Given the description of an element on the screen output the (x, y) to click on. 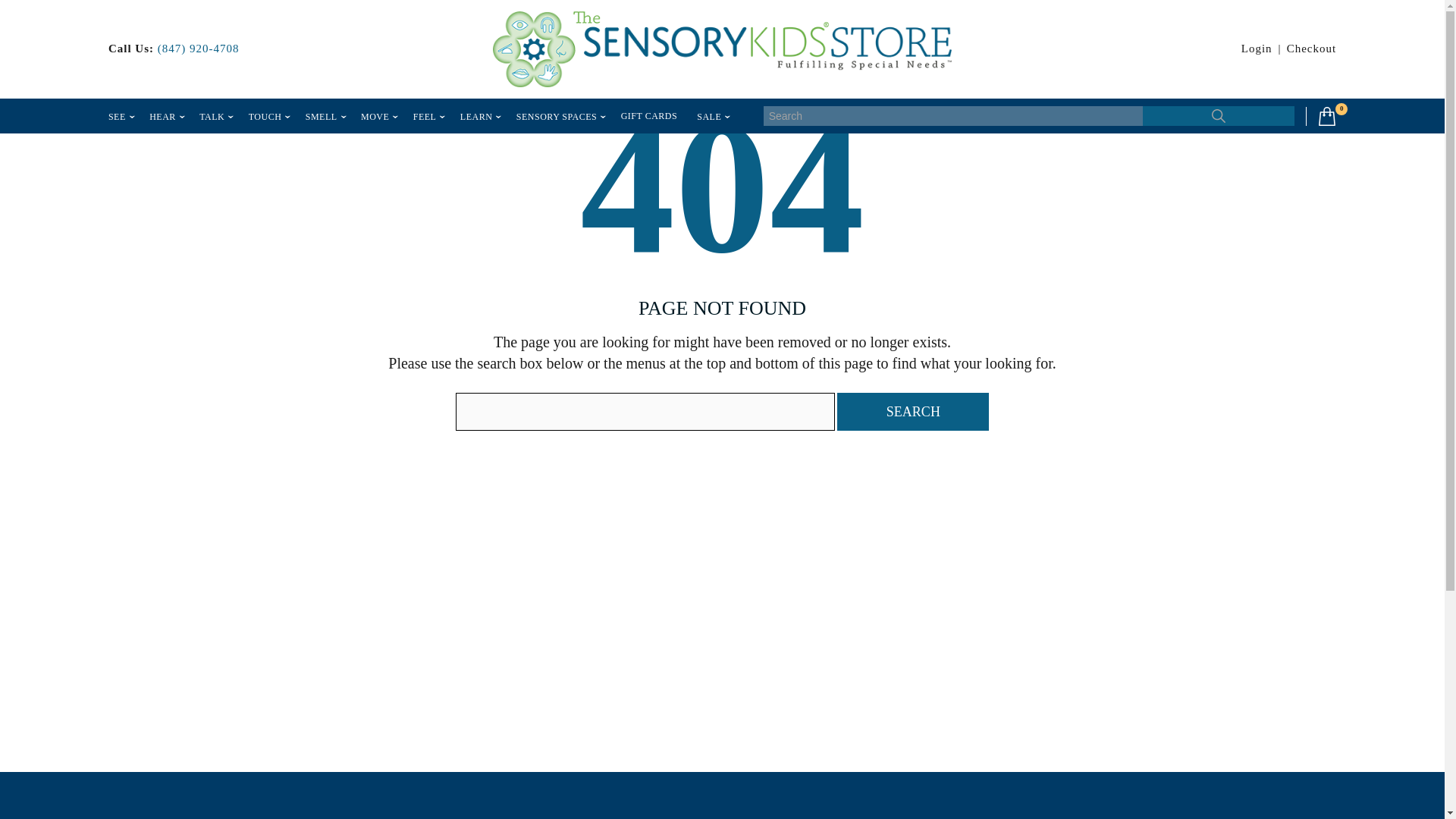
Login (1256, 48)
Checkout (1311, 48)
TALK (211, 116)
Search (912, 411)
SEE (116, 116)
Breadcrumb link to Home (123, 30)
Search (1218, 116)
HEAR (162, 116)
